Given the description of an element on the screen output the (x, y) to click on. 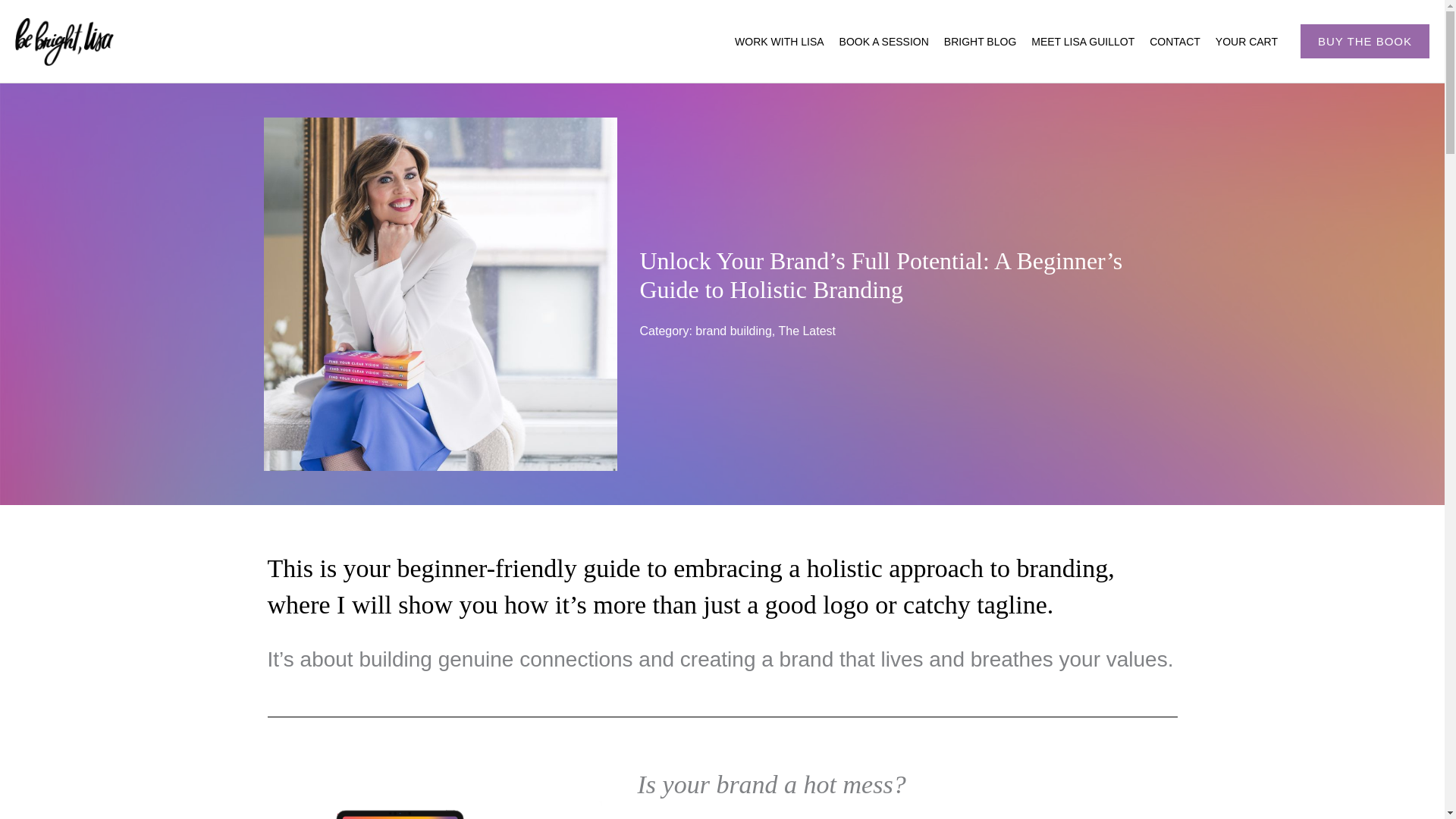
YOUR CART (1246, 41)
BOOK A SESSION (883, 41)
MEET LISA GUILLOT (1082, 41)
BUY THE BOOK (1364, 41)
CONTACT (1174, 41)
WORK WITH LISA (778, 41)
BRIGHT BLOG (979, 41)
